Given the description of an element on the screen output the (x, y) to click on. 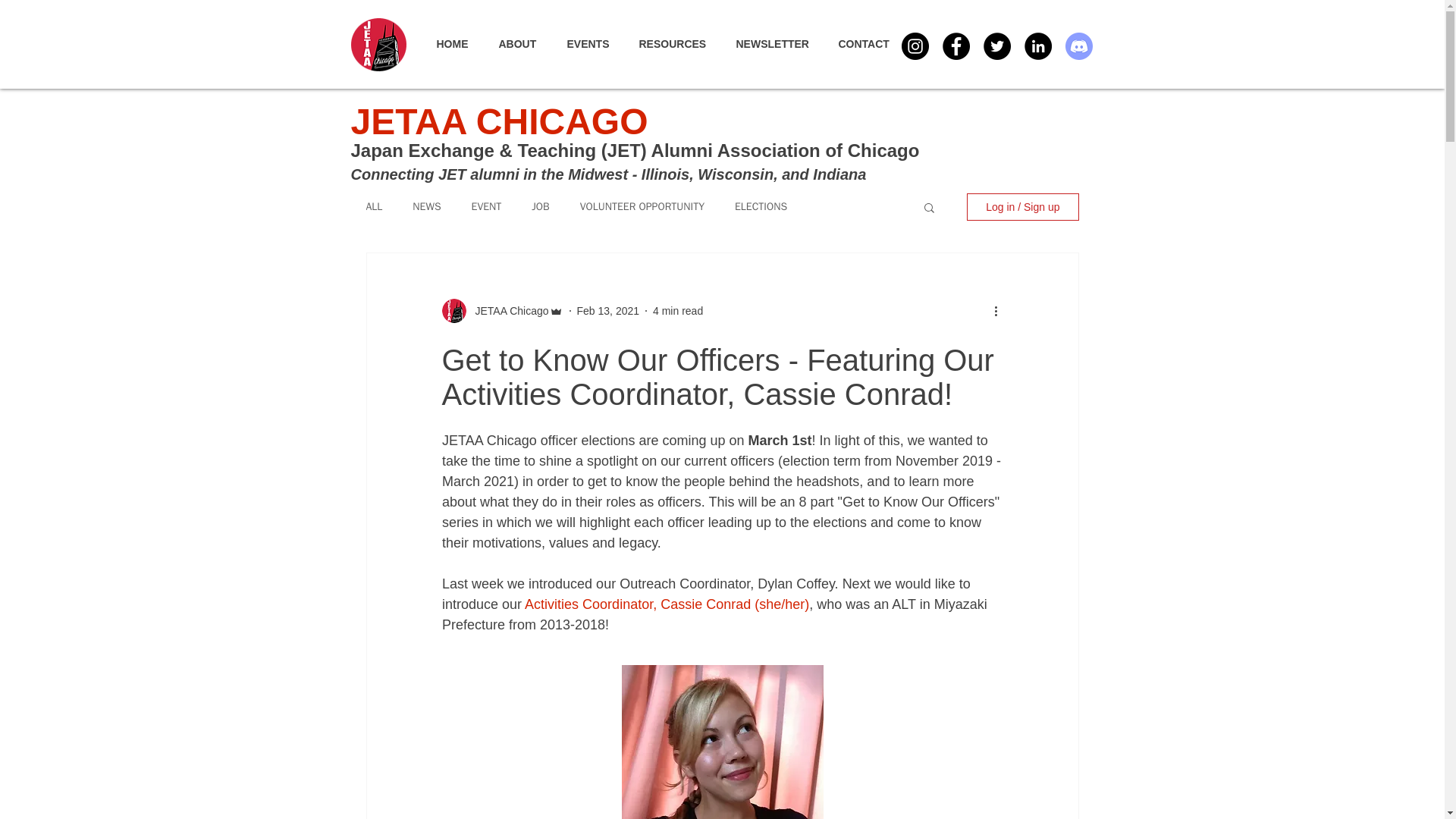
HOME (460, 43)
EVENT (486, 206)
JETAA Chicago (501, 310)
Feb 13, 2021 (608, 310)
NEWSLETTER (778, 43)
ABOUT (525, 43)
4 min read (677, 310)
JOB (540, 206)
JETAA Chicago (506, 311)
ELECTIONS (761, 206)
